Given the description of an element on the screen output the (x, y) to click on. 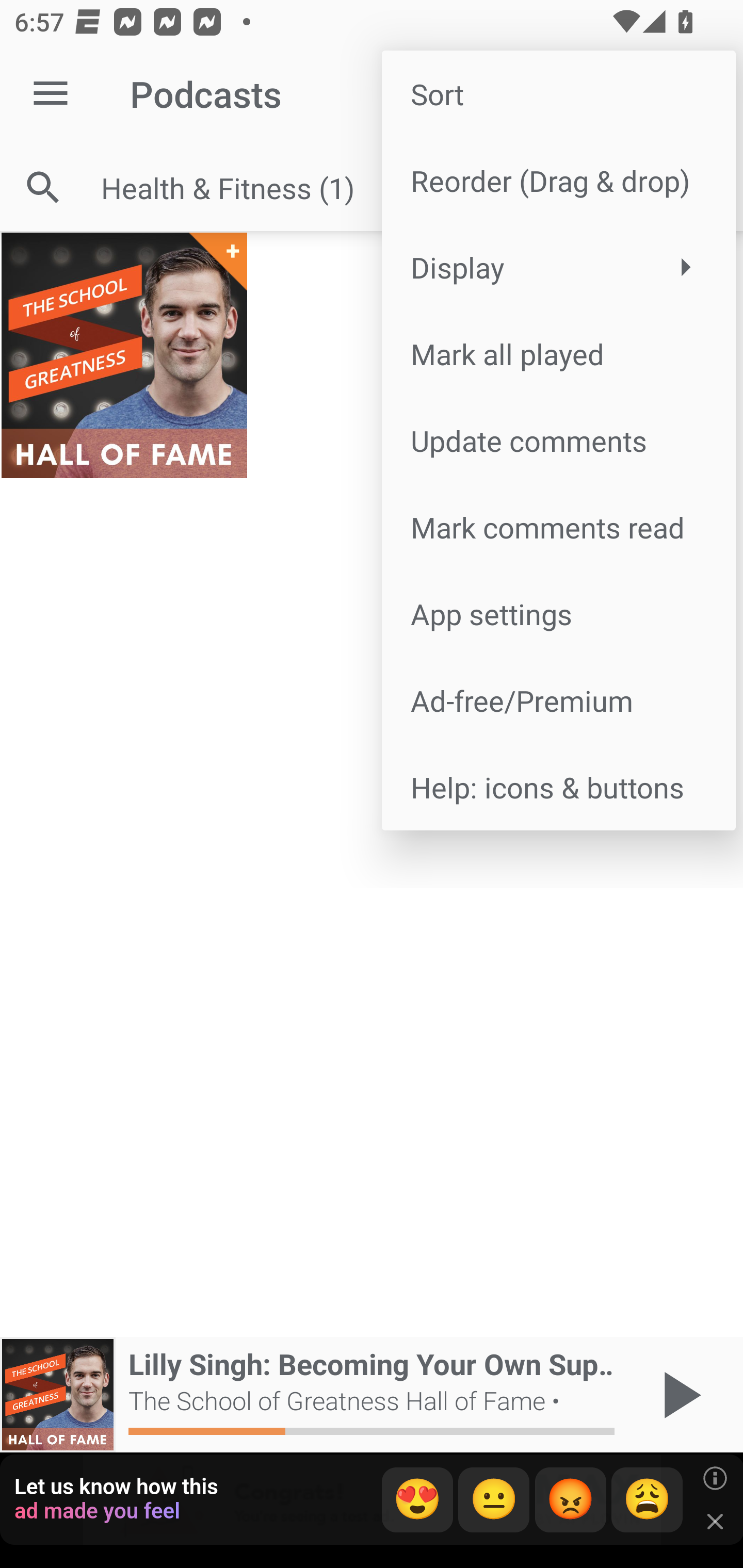
Sort (558, 93)
Reorder (Drag & drop) (558, 180)
Display (558, 267)
Mark all played (558, 353)
Update comments (558, 440)
Mark comments read (558, 527)
App settings (558, 613)
Ad-free/Premium (558, 699)
Help: icons & buttons (558, 787)
